Given the description of an element on the screen output the (x, y) to click on. 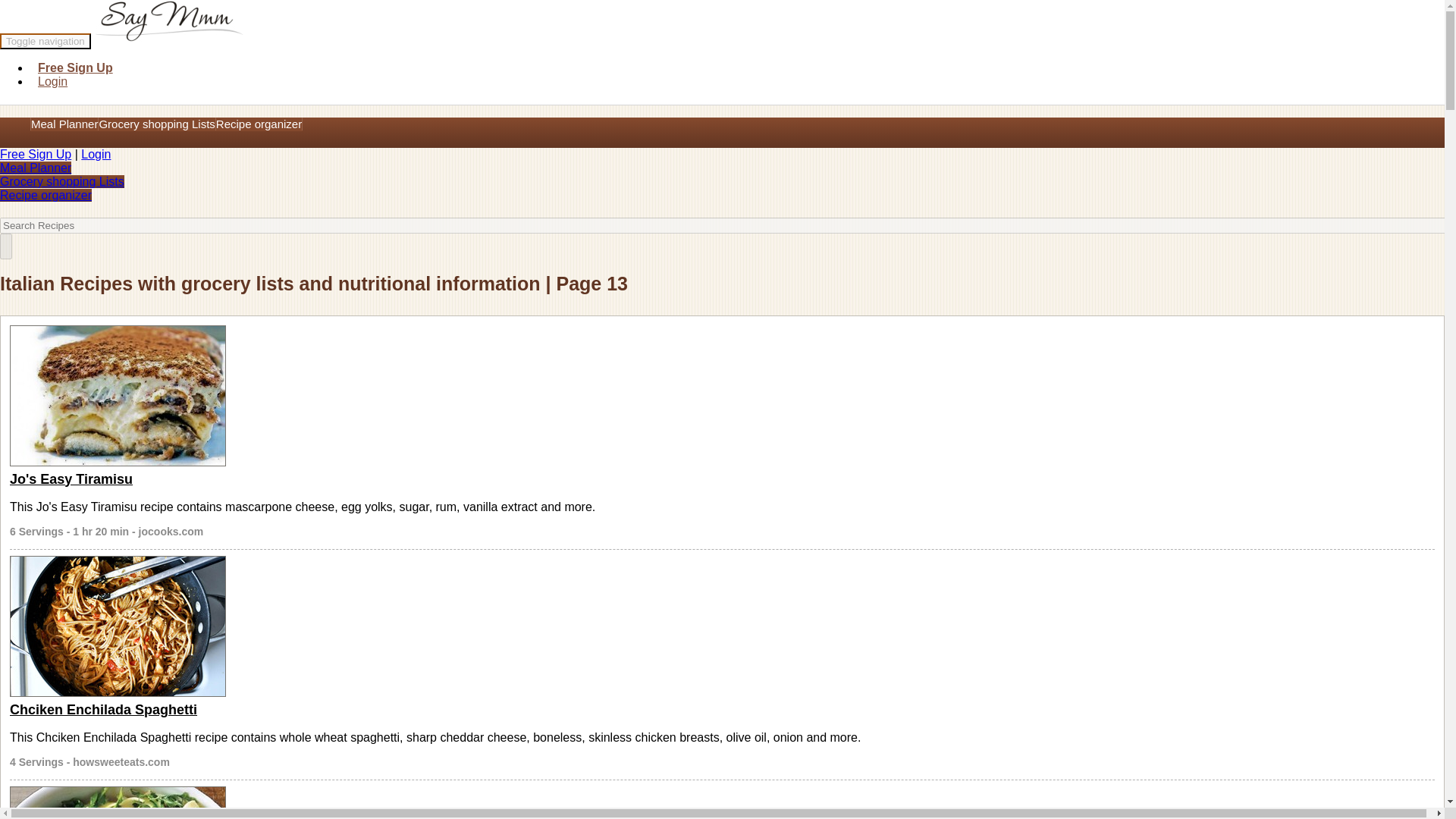
Say Mmm (170, 22)
Meal Planner - Say Mmm (35, 167)
Jo's Easy Tiramisu (71, 478)
Recipe organizer- Say Mmm (45, 195)
Meal Planner - Say Mmm (64, 123)
Chciken Enchilada Spaghetti (103, 709)
Login (54, 81)
Login - Say Mmm (95, 154)
Grocery Shopping Lists - Say Mmm (157, 123)
Free Sign Up (35, 154)
Recipe organizer (258, 123)
Grocery shopping Lists (61, 181)
Recipe organizer (45, 195)
Recipe organizer- Say Mmm (258, 123)
Sign Up - Say Mmm (35, 154)
